Given the description of an element on the screen output the (x, y) to click on. 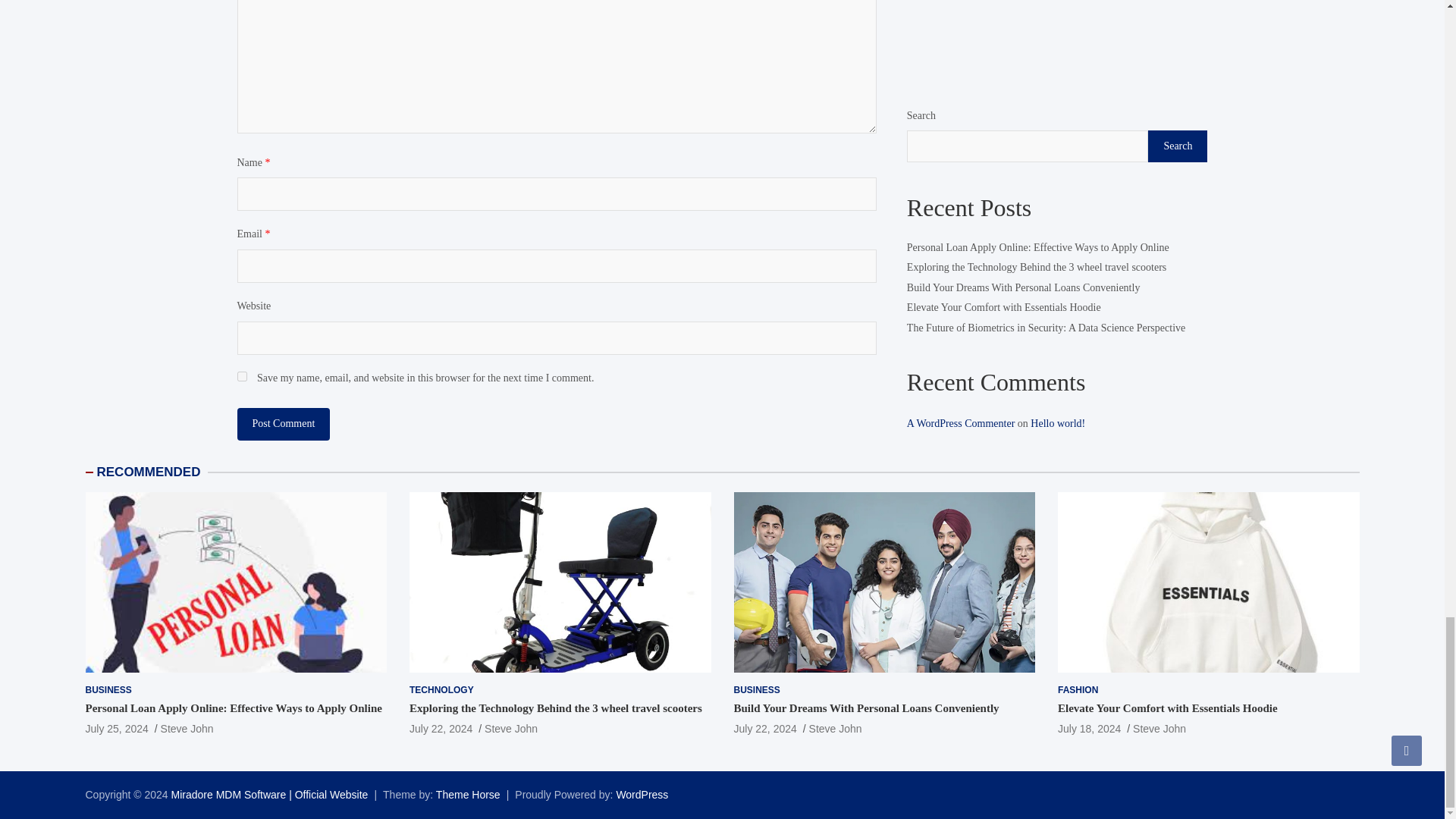
Build Your Dreams With Personal Loans Conveniently (764, 728)
Theme Horse (467, 794)
yes (240, 376)
Personal Loan Apply Online: Effective Ways to Apply Online (232, 707)
WordPress (641, 794)
RECOMMENDED (148, 472)
BUSINESS (107, 690)
Elevate Your Comfort with Essentials Hoodie (1089, 728)
Post Comment (282, 423)
Exploring the Technology Behind the 3 wheel travel scooters (440, 728)
Post Comment (282, 423)
Personal Loan Apply Online: Effective Ways to Apply Online (116, 728)
